Given the description of an element on the screen output the (x, y) to click on. 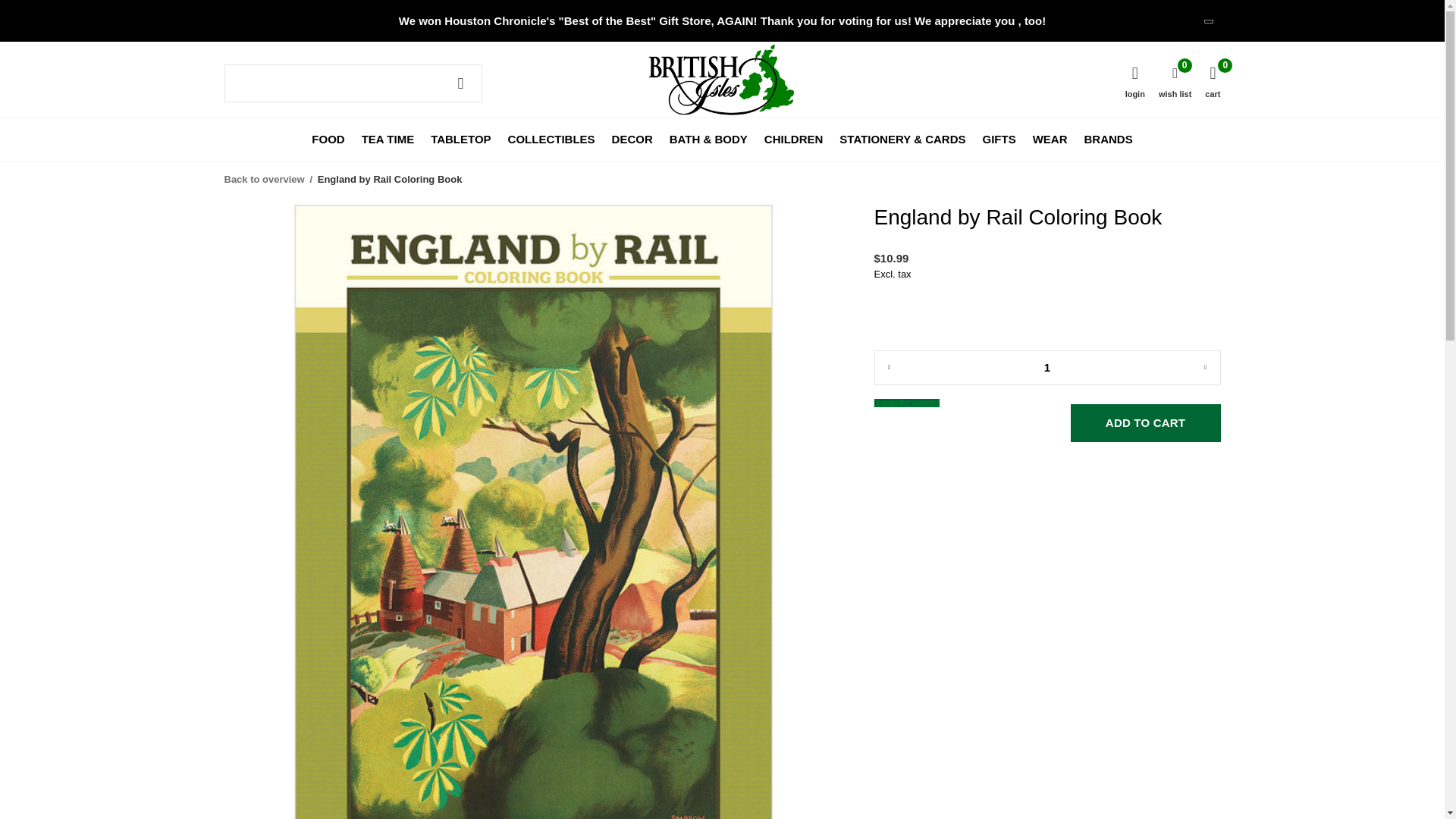
Input Search Field (352, 83)
Open Login (906, 402)
Input England by Rail Coloring Book Quantity (1046, 367)
TEA TIME (387, 138)
1 (1046, 367)
FOOD (327, 138)
